Given the description of an element on the screen output the (x, y) to click on. 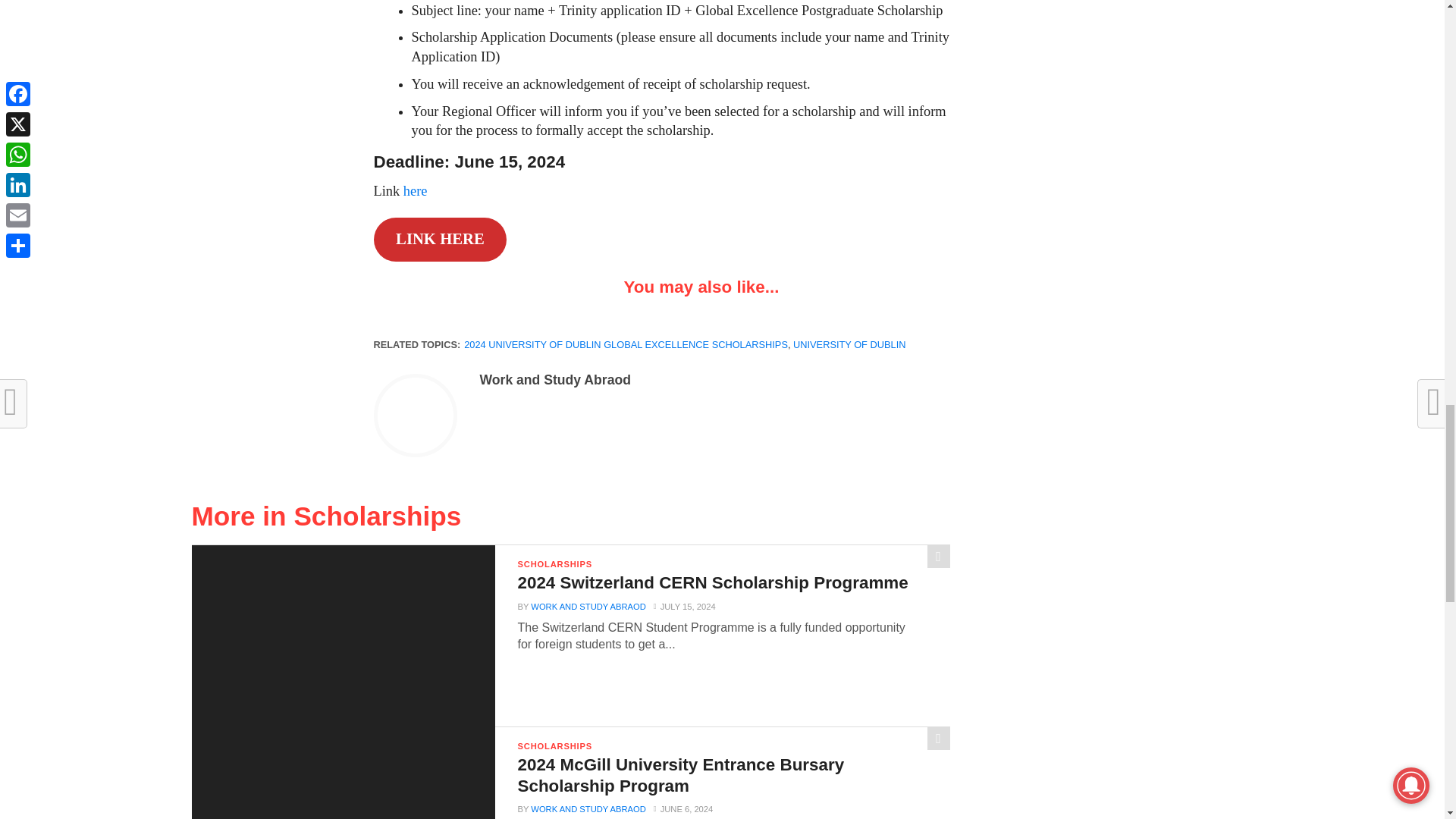
LINK HERE (439, 239)
Posts by Work and Study Abraod (554, 379)
here (415, 191)
2024 UNIVERSITY OF DUBLIN GLOBAL EXCELLENCE SCHOLARSHIPS (625, 344)
Work and Study Abraod (554, 379)
WORK AND STUDY ABRAOD (588, 605)
UNIVERSITY OF DUBLIN (849, 344)
